Given the description of an element on the screen output the (x, y) to click on. 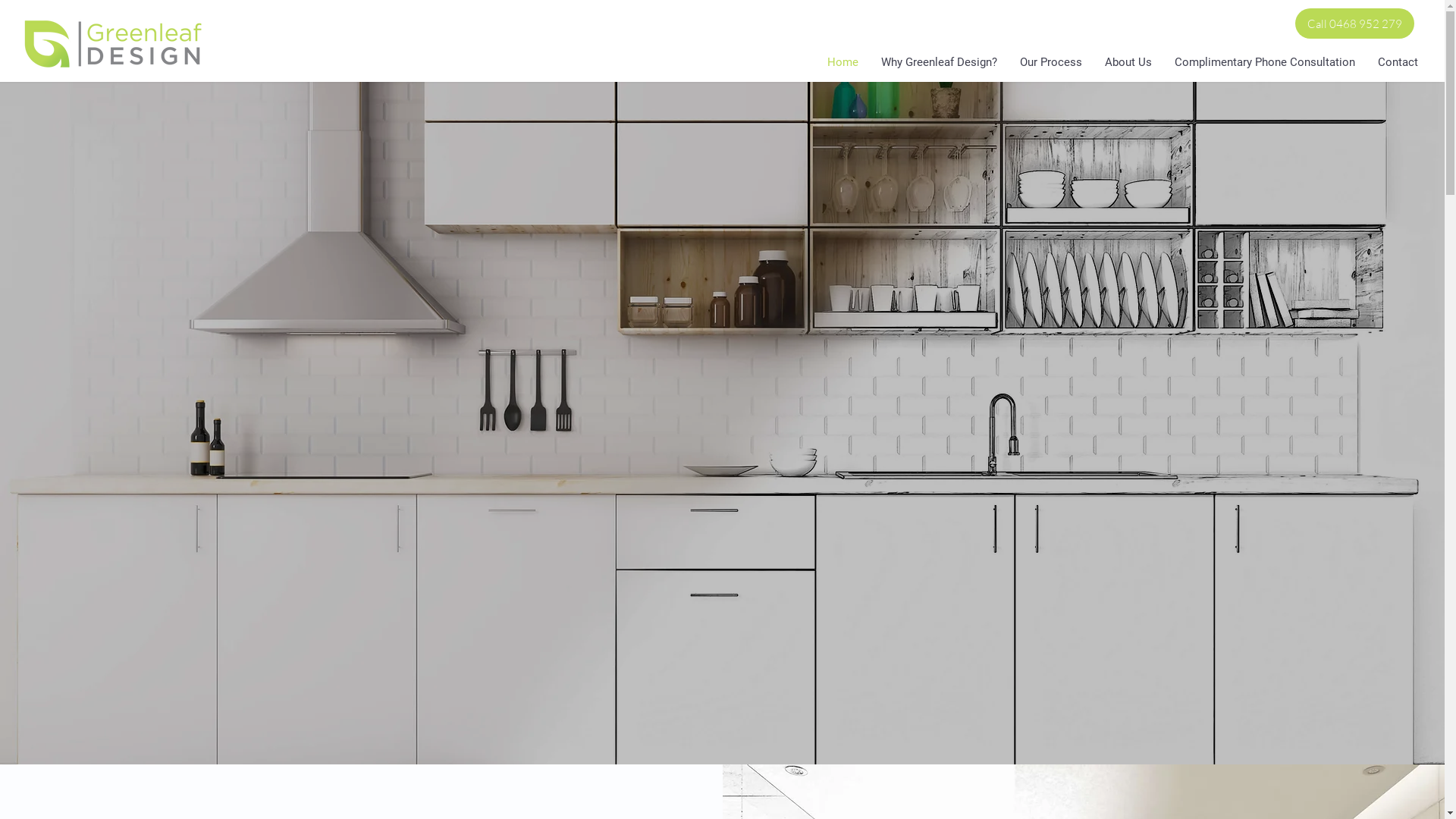
About Us Element type: text (1128, 62)
Contact Element type: text (1397, 62)
Home Element type: text (842, 62)
Call 0468 952 279 Element type: text (1354, 23)
Complimentary Phone Consultation Element type: text (1264, 62)
Why Greenleaf Design? Element type: text (938, 62)
Our Process Element type: text (1050, 62)
